Given the description of an element on the screen output the (x, y) to click on. 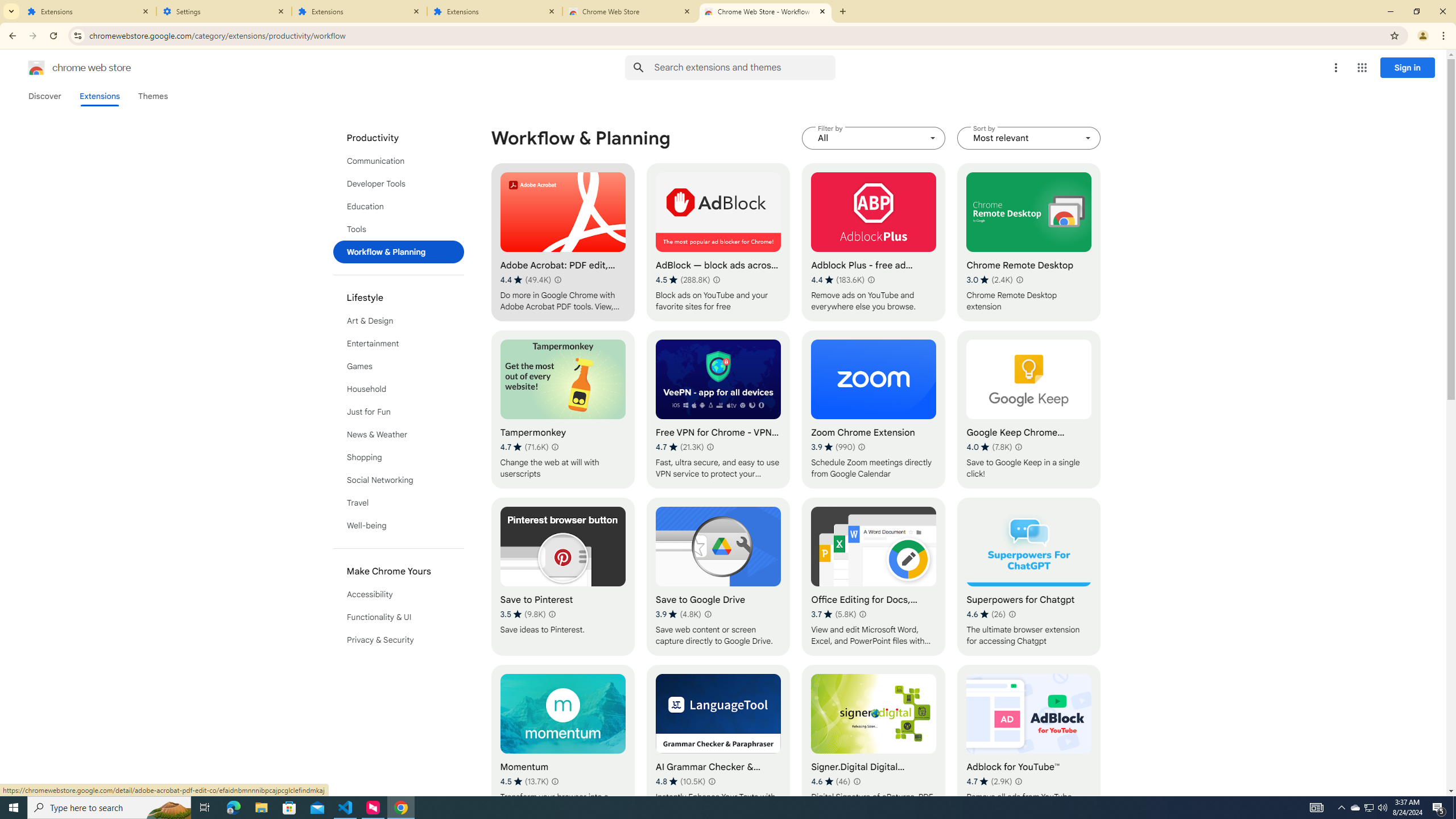
Learn more about results and reviews "Tampermonkey" (555, 446)
News & Weather (398, 434)
Household (398, 388)
Extensions (88, 11)
Average rating 4.4 out of 5 stars. 183.6K ratings. (837, 279)
Shopping (398, 456)
Learn more about results and reviews "Chrome Remote Desktop" (1019, 279)
Average rating 4.6 out of 5 stars. 46 ratings. (830, 781)
Save to Pinterest (562, 576)
Workflow & Planning (selected) (398, 251)
